Given the description of an element on the screen output the (x, y) to click on. 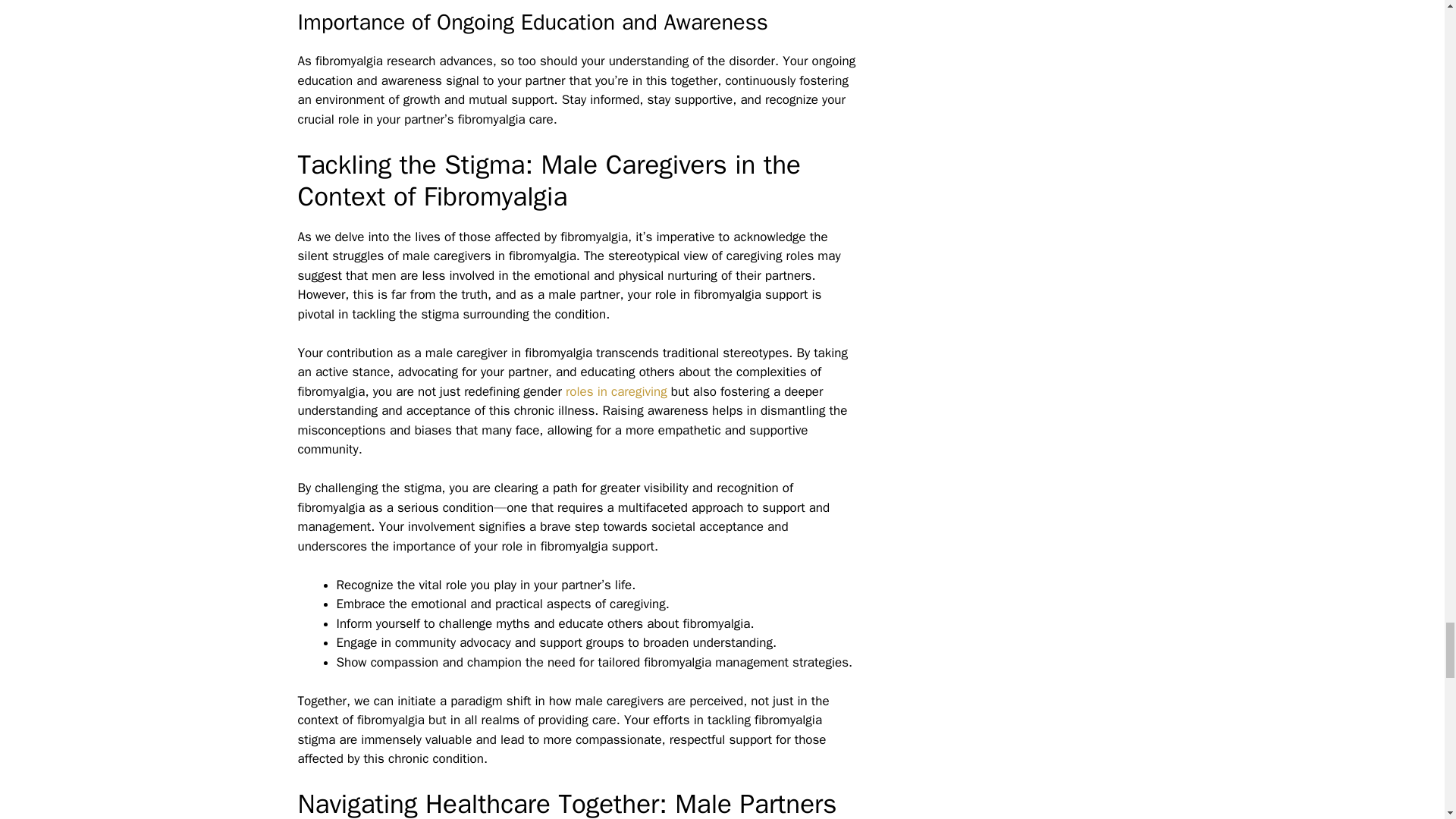
roles in caregiving (616, 391)
